Given the description of an element on the screen output the (x, y) to click on. 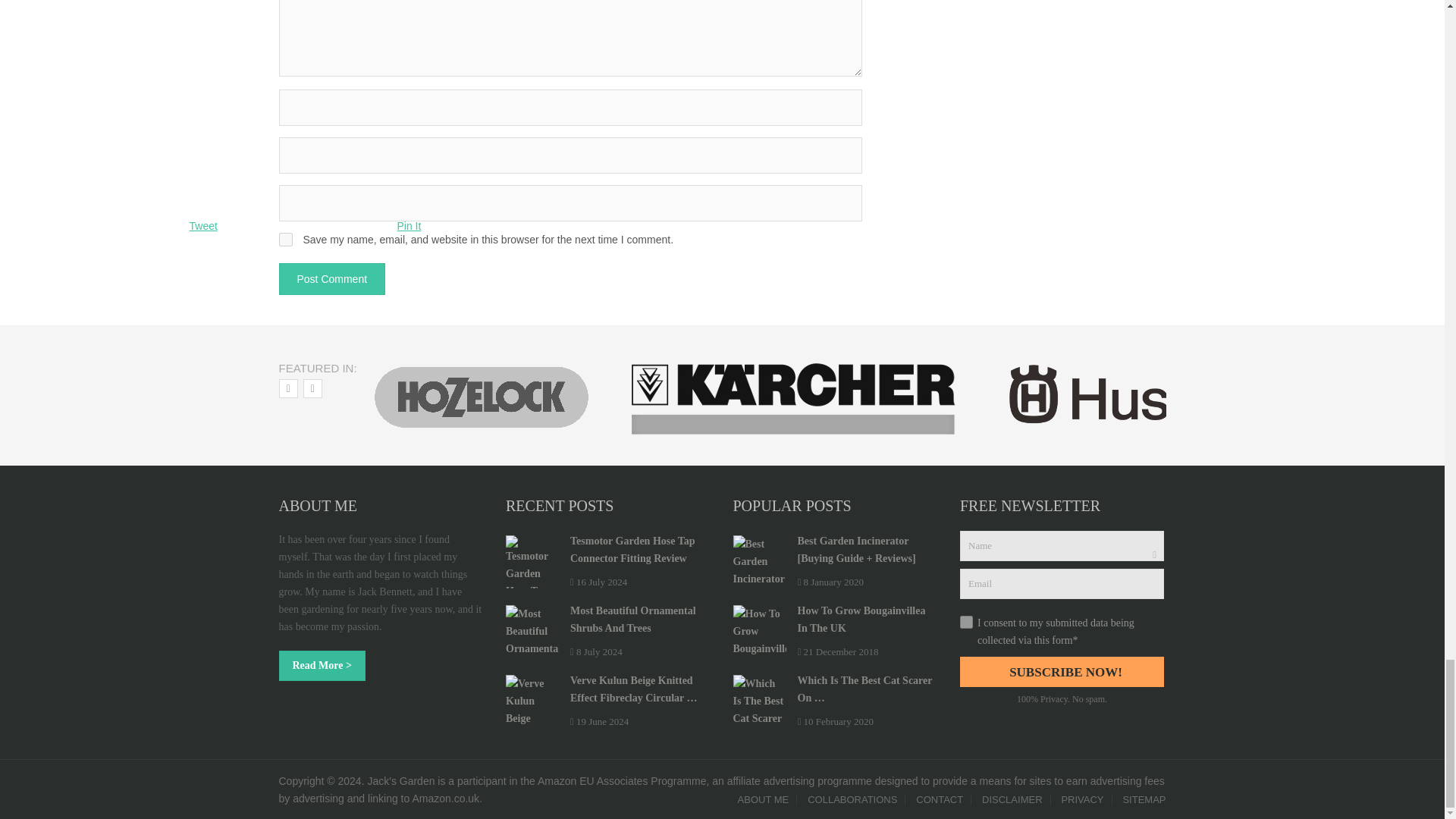
Post Comment (332, 278)
yes (285, 239)
Post Comment (332, 278)
on (965, 621)
Subscribe Now! (1061, 671)
Tesmotor Garden Hose Tap Connector Fitting Review (532, 561)
